Given the description of an element on the screen output the (x, y) to click on. 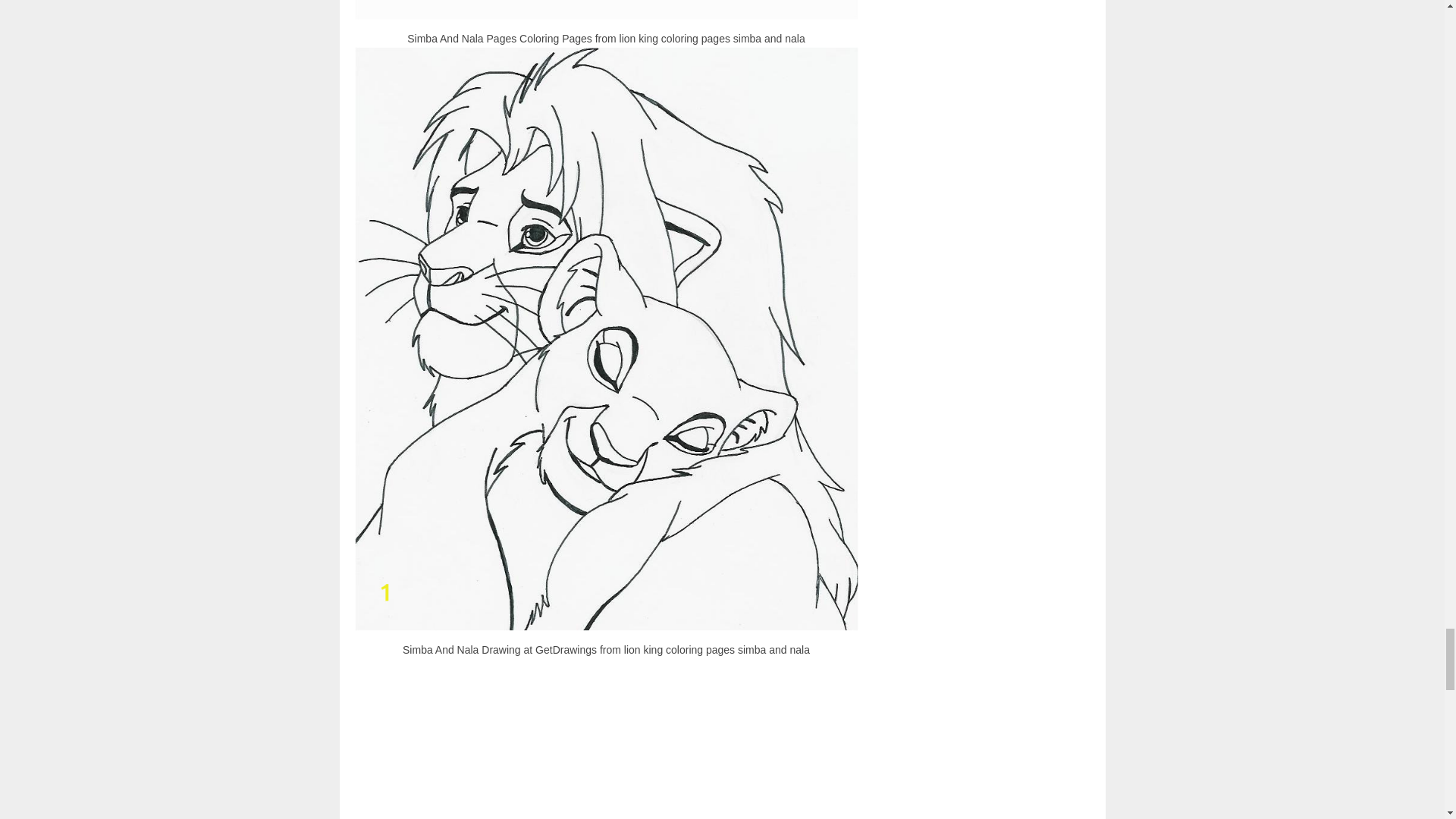
Simba And Nala Pages Coloring Pages (607, 9)
